Given the description of an element on the screen output the (x, y) to click on. 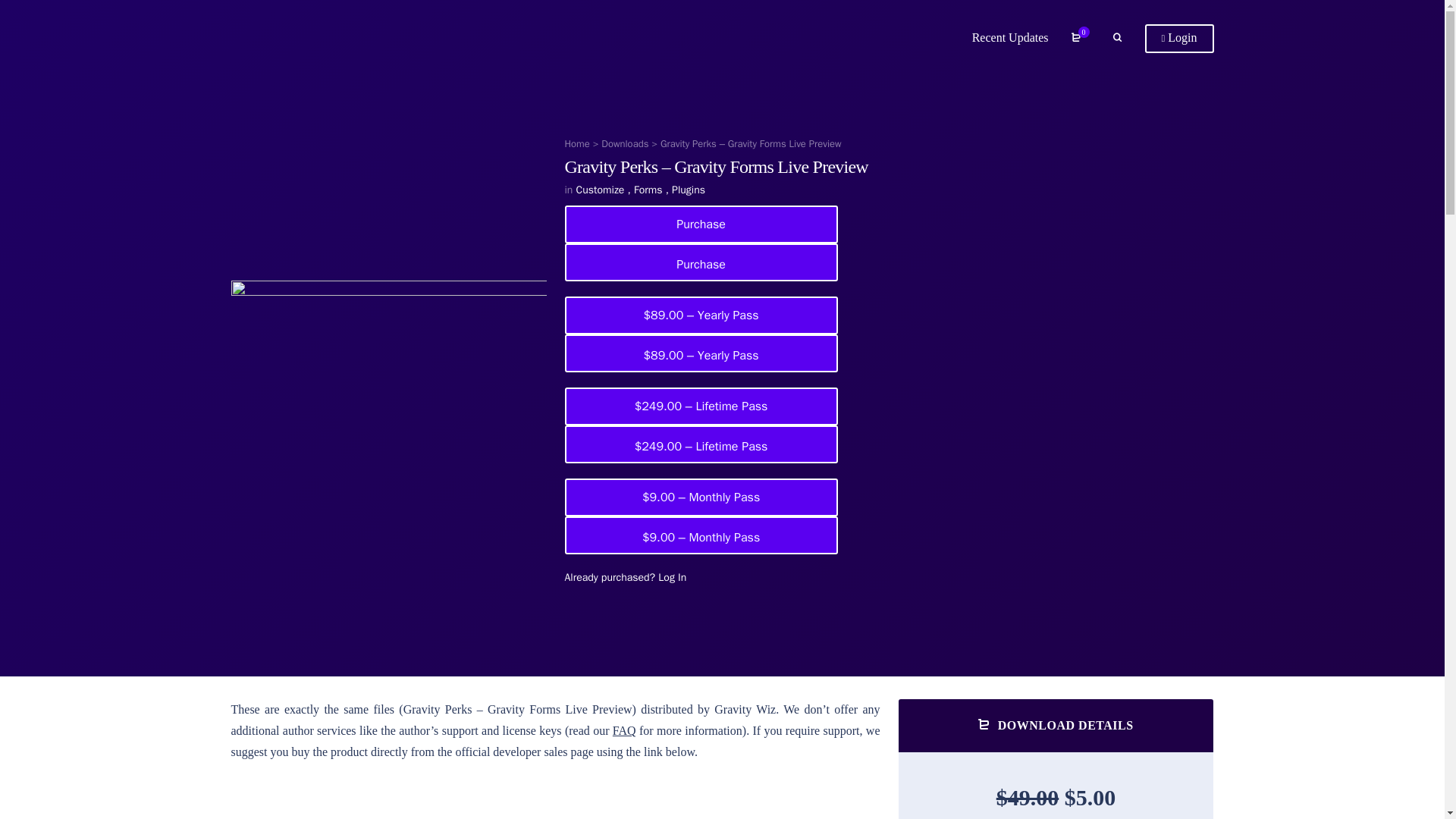
Purchase (700, 261)
Downloads (624, 143)
Recent Updates (1009, 38)
Home (576, 143)
Forms (647, 189)
Purchase (700, 223)
Login (1179, 38)
Purchase (700, 261)
Customize (600, 189)
Downloads (624, 143)
